Given the description of an element on the screen output the (x, y) to click on. 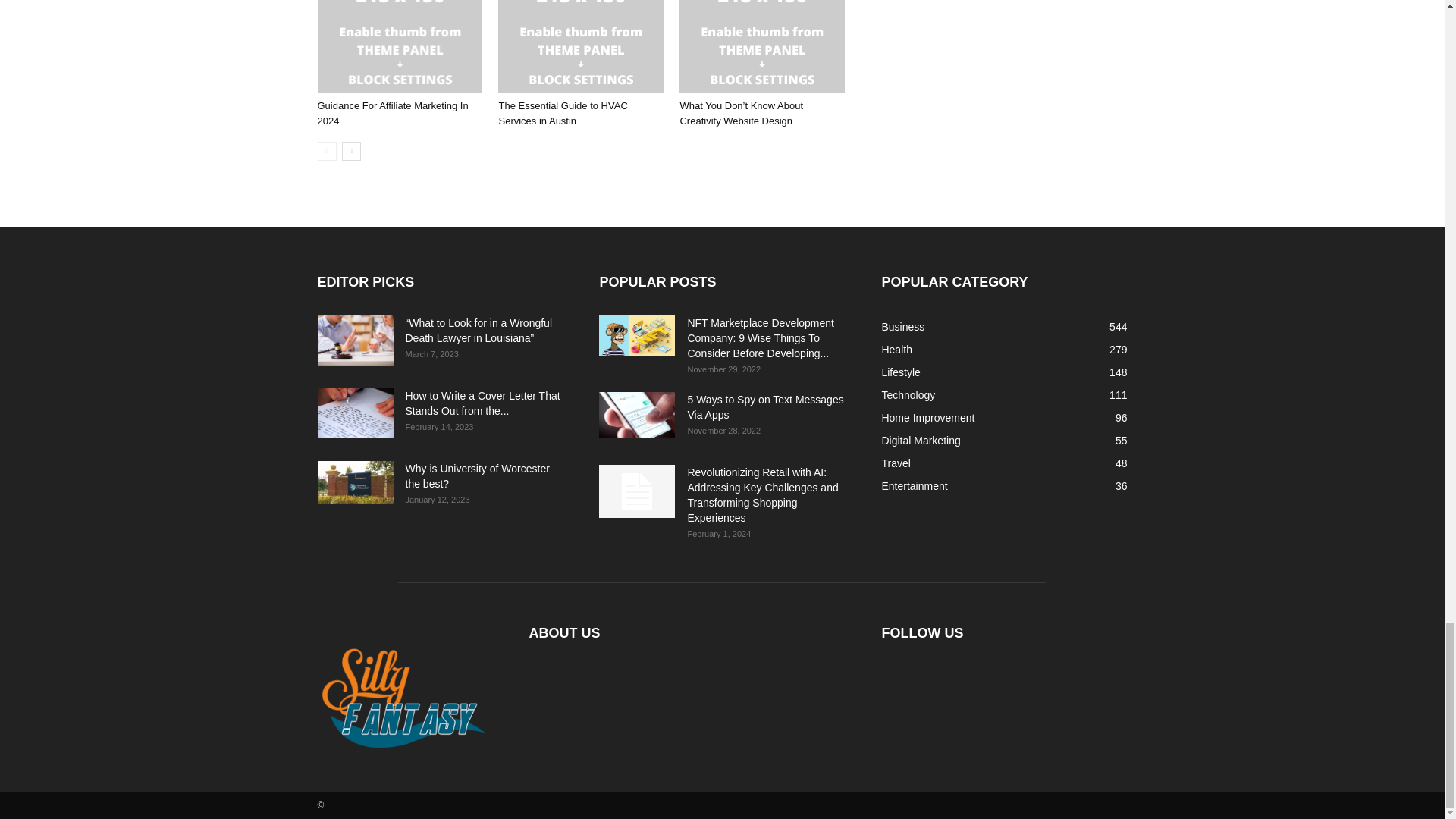
Guidance For Affiliate Marketing In 2024 (399, 46)
